Given the description of an element on the screen output the (x, y) to click on. 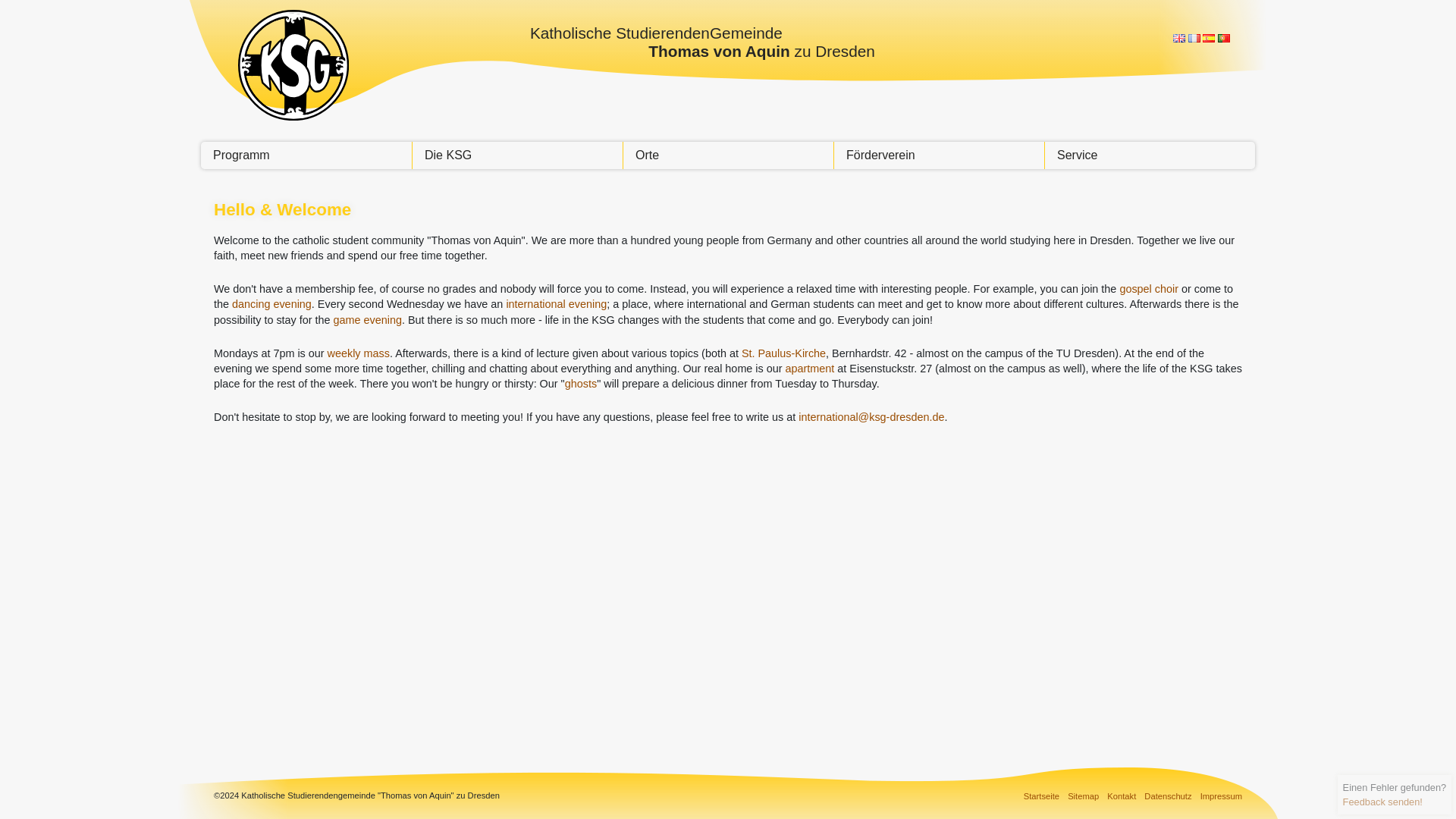
Orte (727, 154)
Programm (306, 154)
francais (1193, 38)
Programm (306, 154)
Service (1150, 154)
espanol (1208, 38)
english (1179, 38)
Die KSG (517, 154)
Die KSG (517, 154)
portugues (1223, 38)
